Given the description of an element on the screen output the (x, y) to click on. 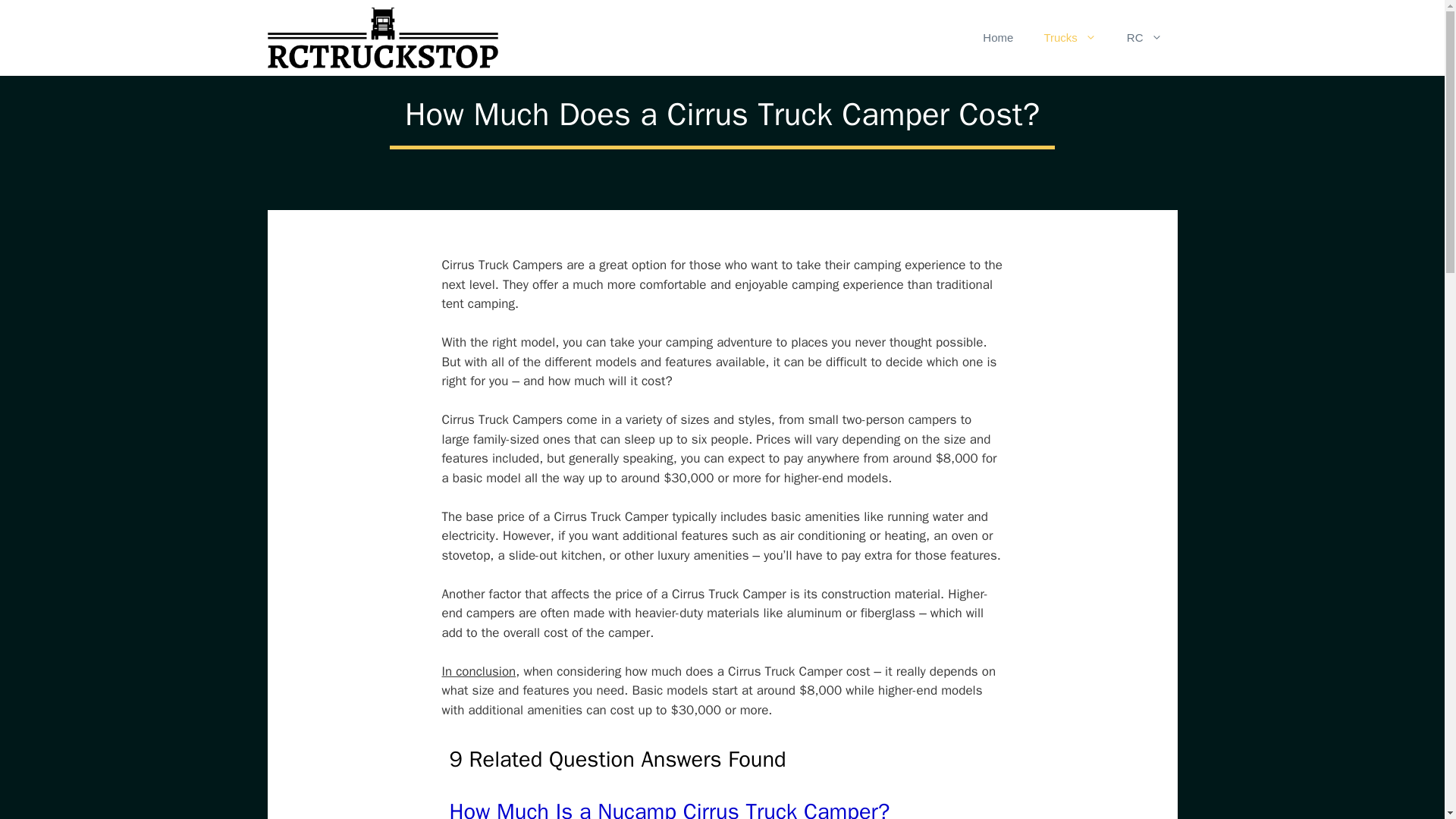
RC (1144, 37)
RCTruckStop (381, 38)
Trucks (1068, 37)
How Much Is a Nucamp Cirrus Truck Camper? (668, 808)
Home (997, 37)
